Given the description of an element on the screen output the (x, y) to click on. 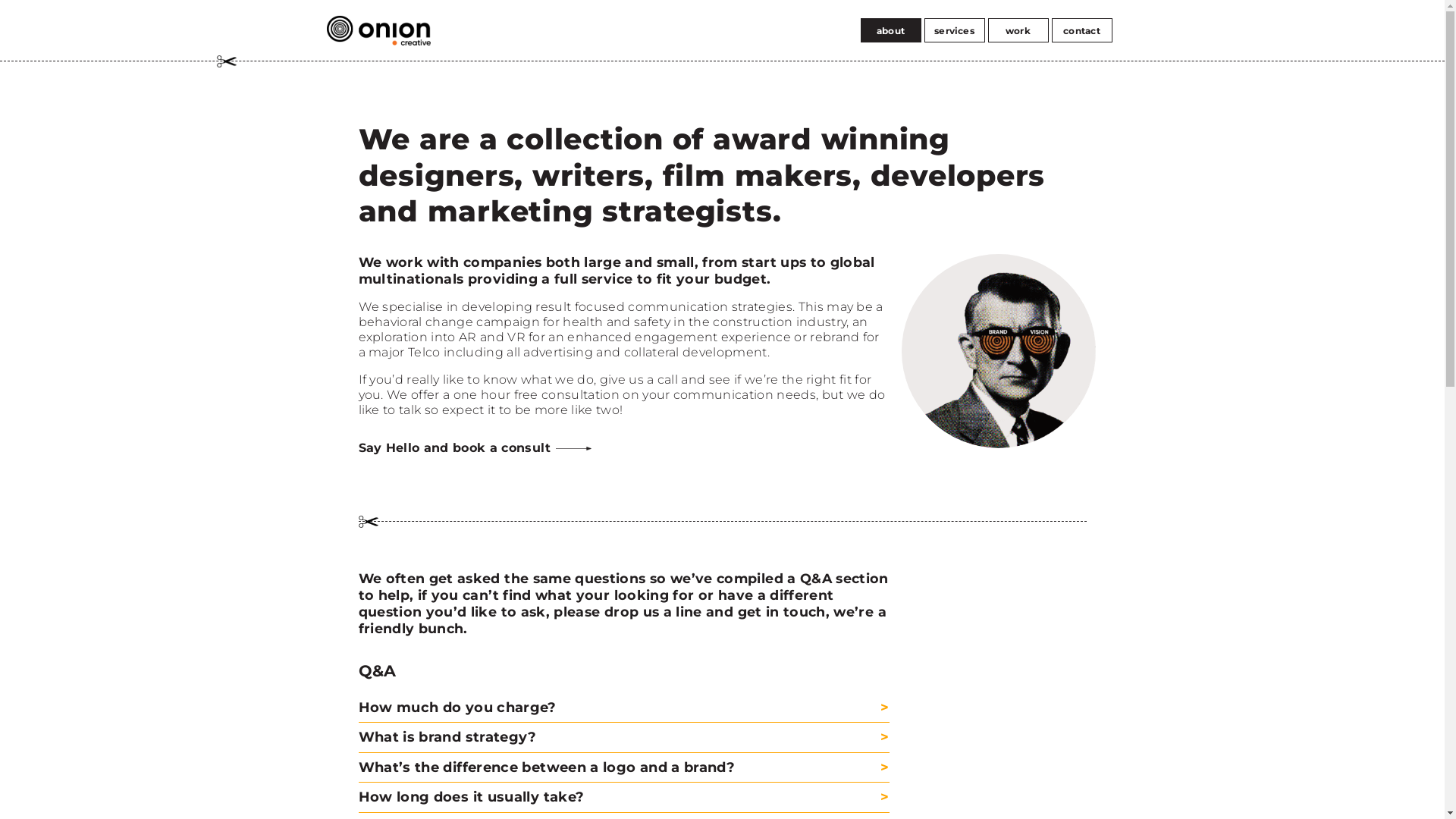
about Element type: text (889, 30)
Say Hello and book a consult Element type: text (474, 447)
contact Element type: text (1081, 30)
work Element type: text (1017, 30)
services Element type: text (953, 30)
